Given the description of an element on the screen output the (x, y) to click on. 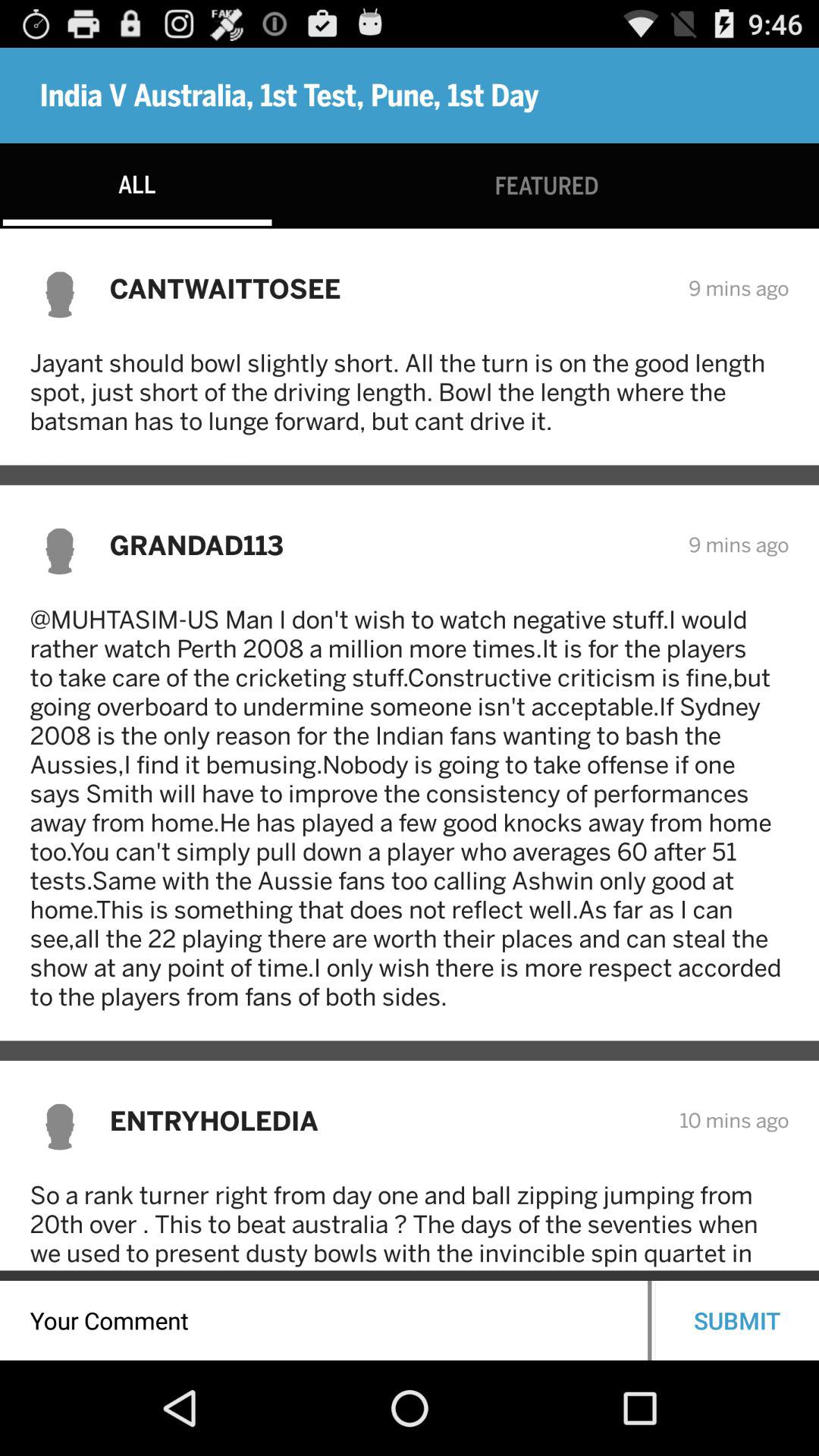
tap the icon next to 9 mins ago (388, 544)
